Given the description of an element on the screen output the (x, y) to click on. 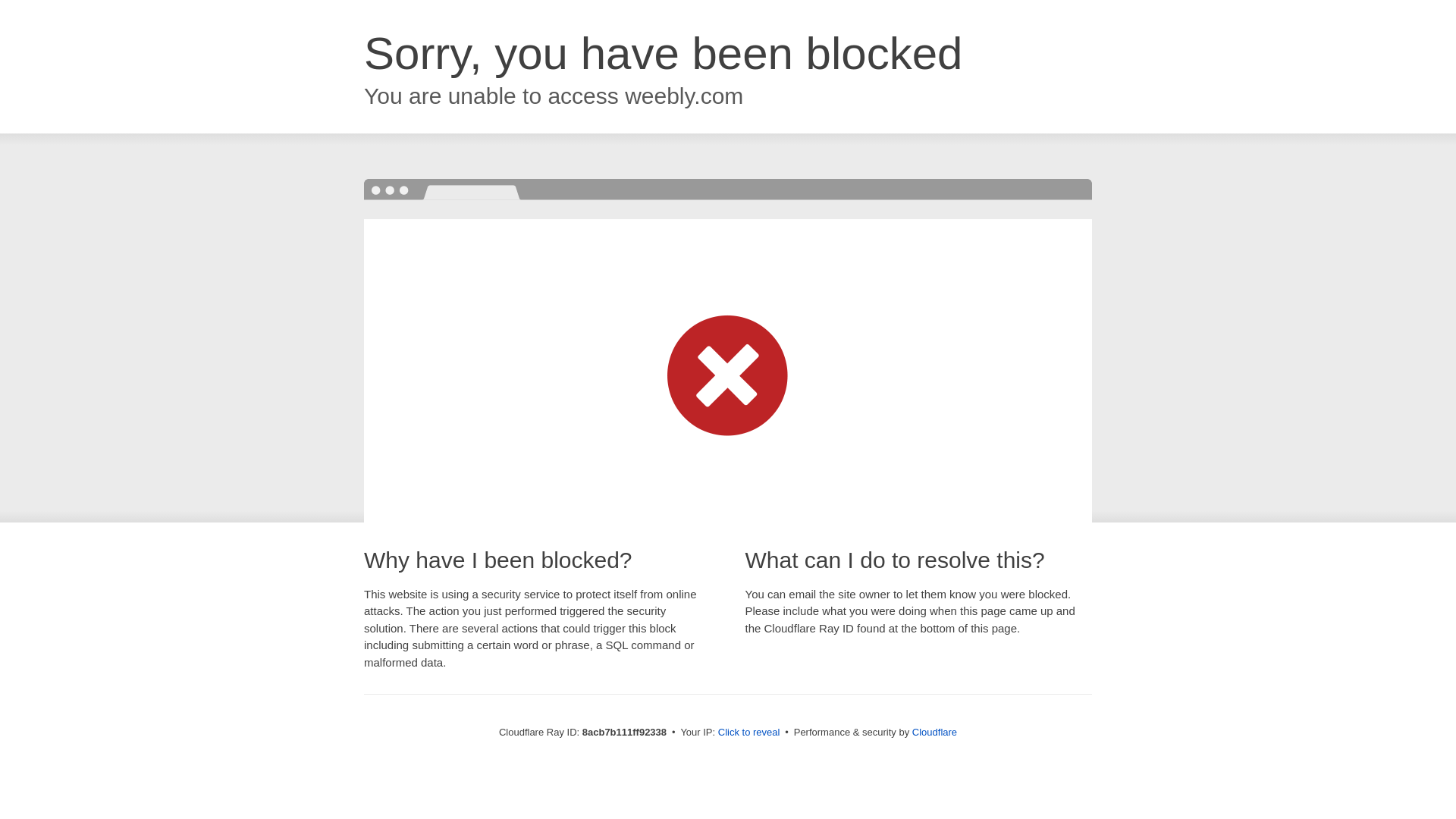
Cloudflare (934, 731)
Click to reveal (748, 732)
